Given the description of an element on the screen output the (x, y) to click on. 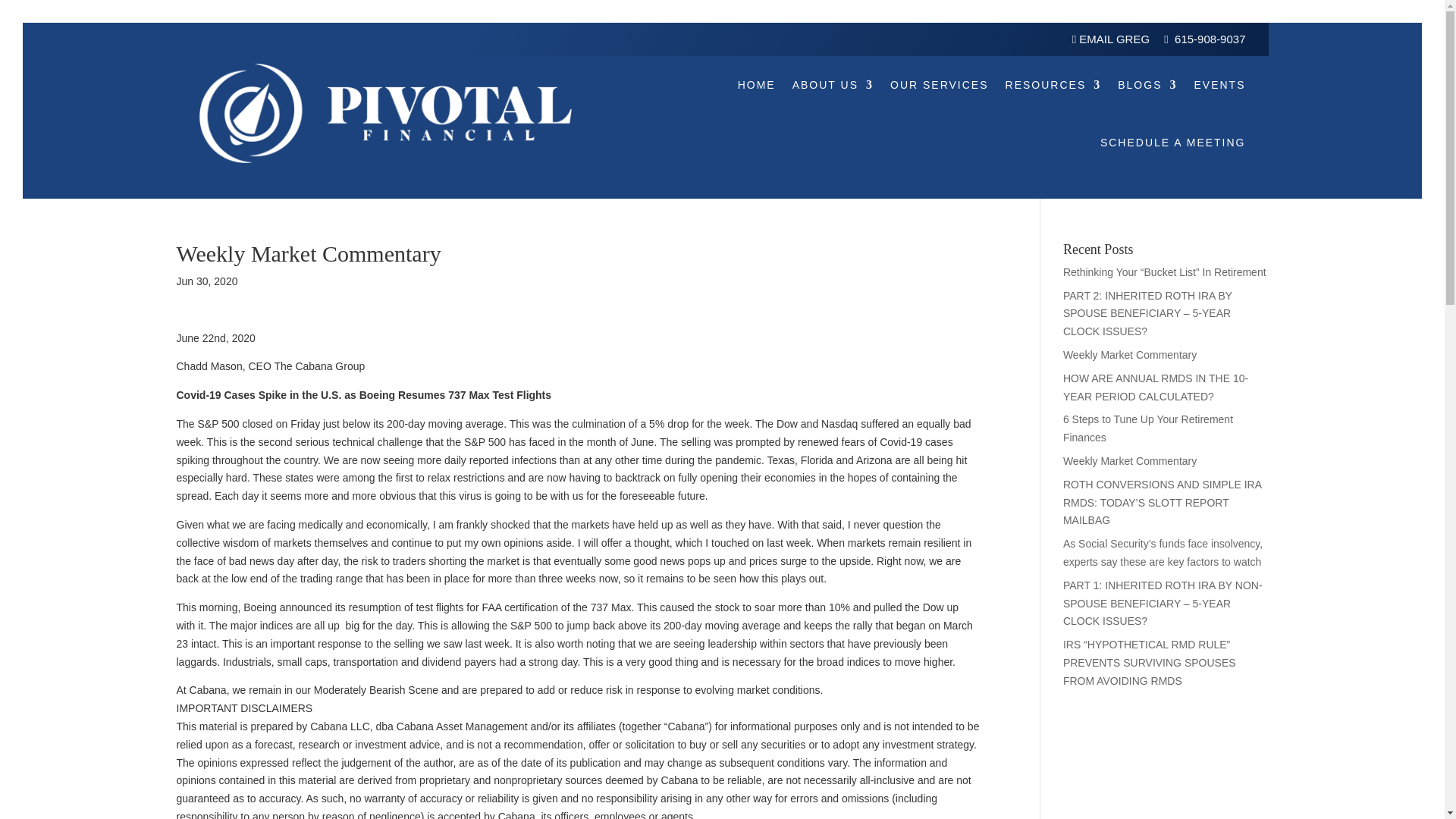
BLOGS (1147, 84)
 EMAIL GREG (1112, 38)
6 Steps to Tune Up Your Retirement Finances (1147, 428)
Weekly Market Commentary (1129, 460)
SCHEDULE A MEETING (1173, 142)
EVENTS (1218, 84)
HOW ARE ANNUAL RMDS IN THE 10-YEAR PERIOD CALCULATED? (1154, 387)
Weekly Market Commentary (1129, 354)
615-908-9037 (1209, 38)
OUR SERVICES (938, 84)
ABOUT US (832, 84)
RESOURCES (1054, 84)
